Given the description of an element on the screen output the (x, y) to click on. 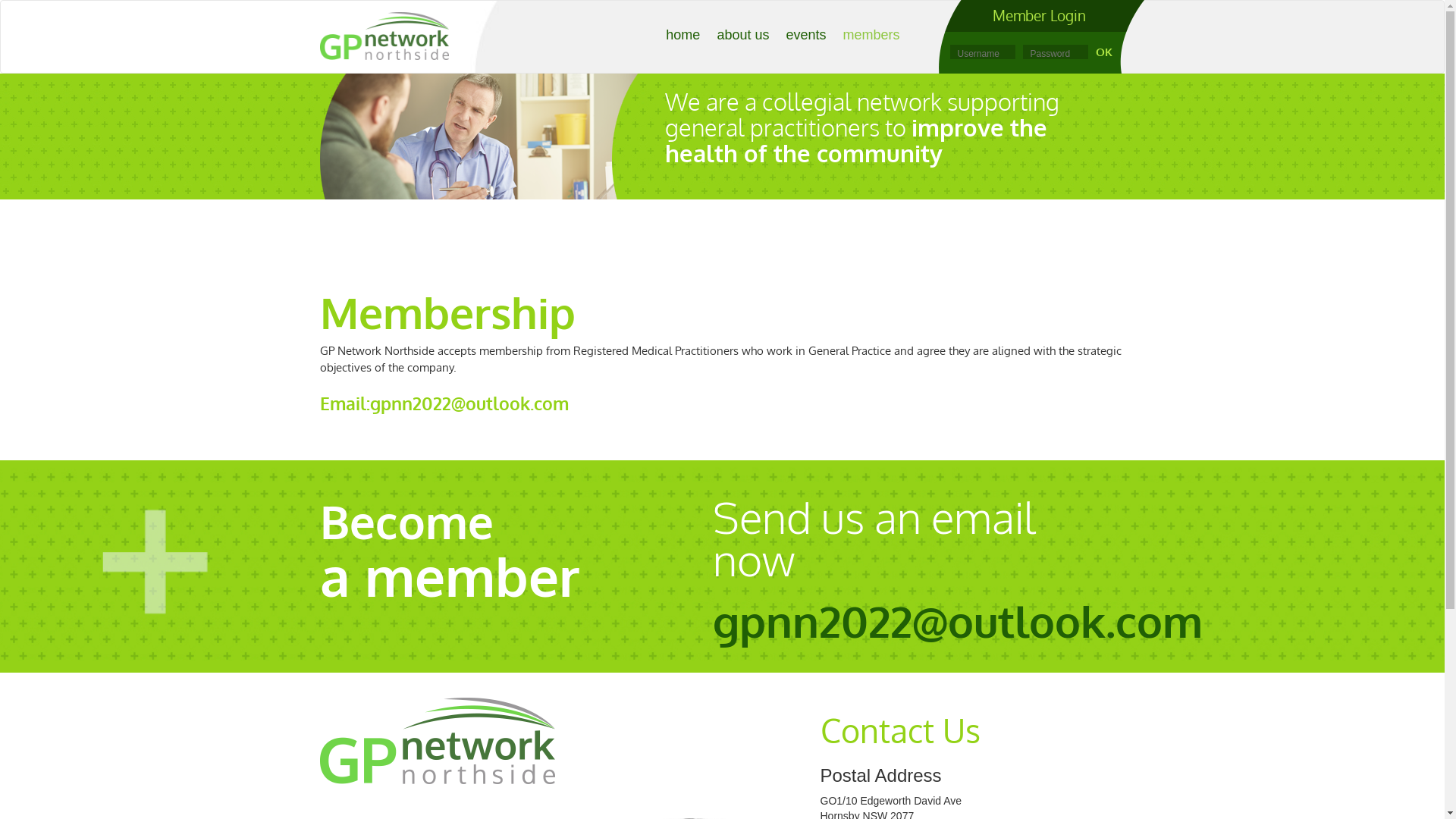
about us Element type: text (742, 34)
events Element type: text (805, 34)
home Element type: text (682, 34)
members Element type: text (870, 34)
Log In Element type: text (1105, 51)
